Given the description of an element on the screen output the (x, y) to click on. 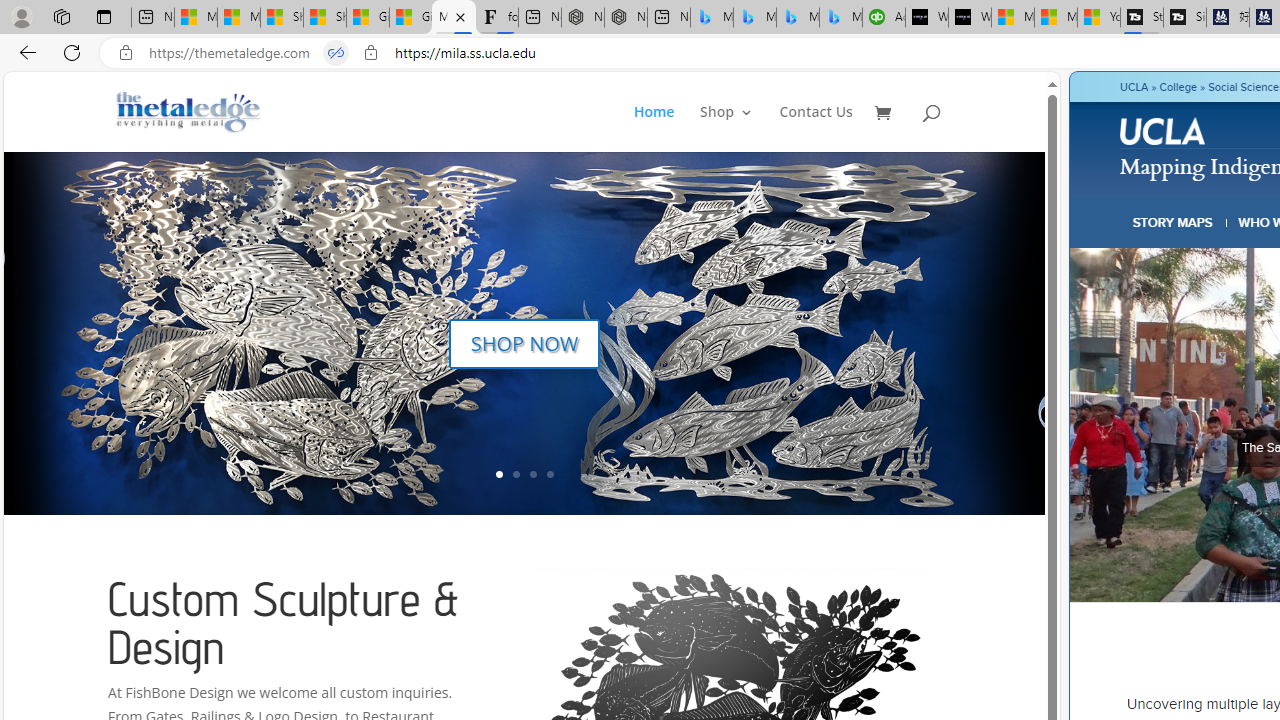
Metal Fish Sculptures & Metal Designs (189, 111)
SHOP NOW 5 (524, 377)
5 (1042, 332)
STORY MAPS (1173, 222)
